Given the description of an element on the screen output the (x, y) to click on. 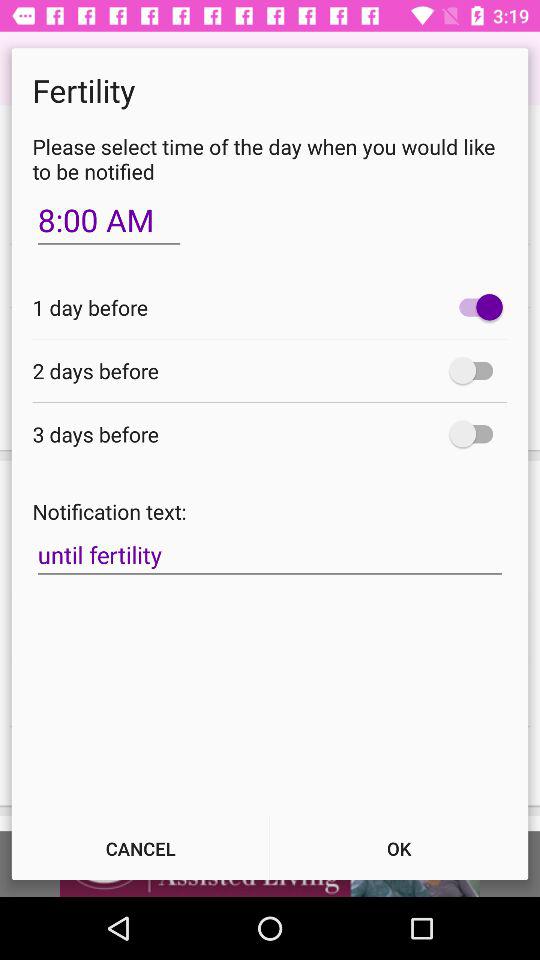
scroll to ok icon (399, 848)
